Given the description of an element on the screen output the (x, y) to click on. 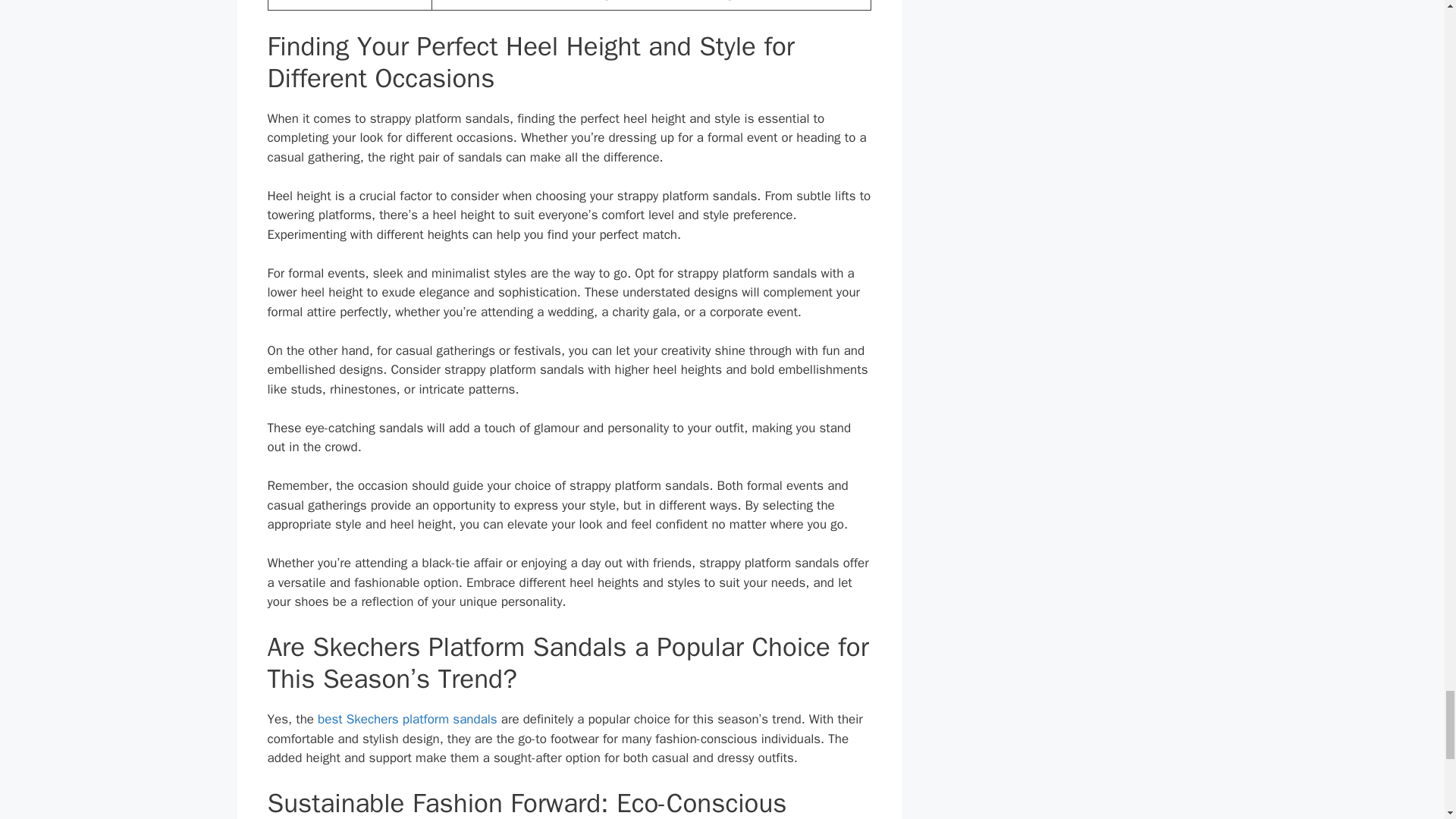
best Skechers platform sandals (407, 719)
